Given the description of an element on the screen output the (x, y) to click on. 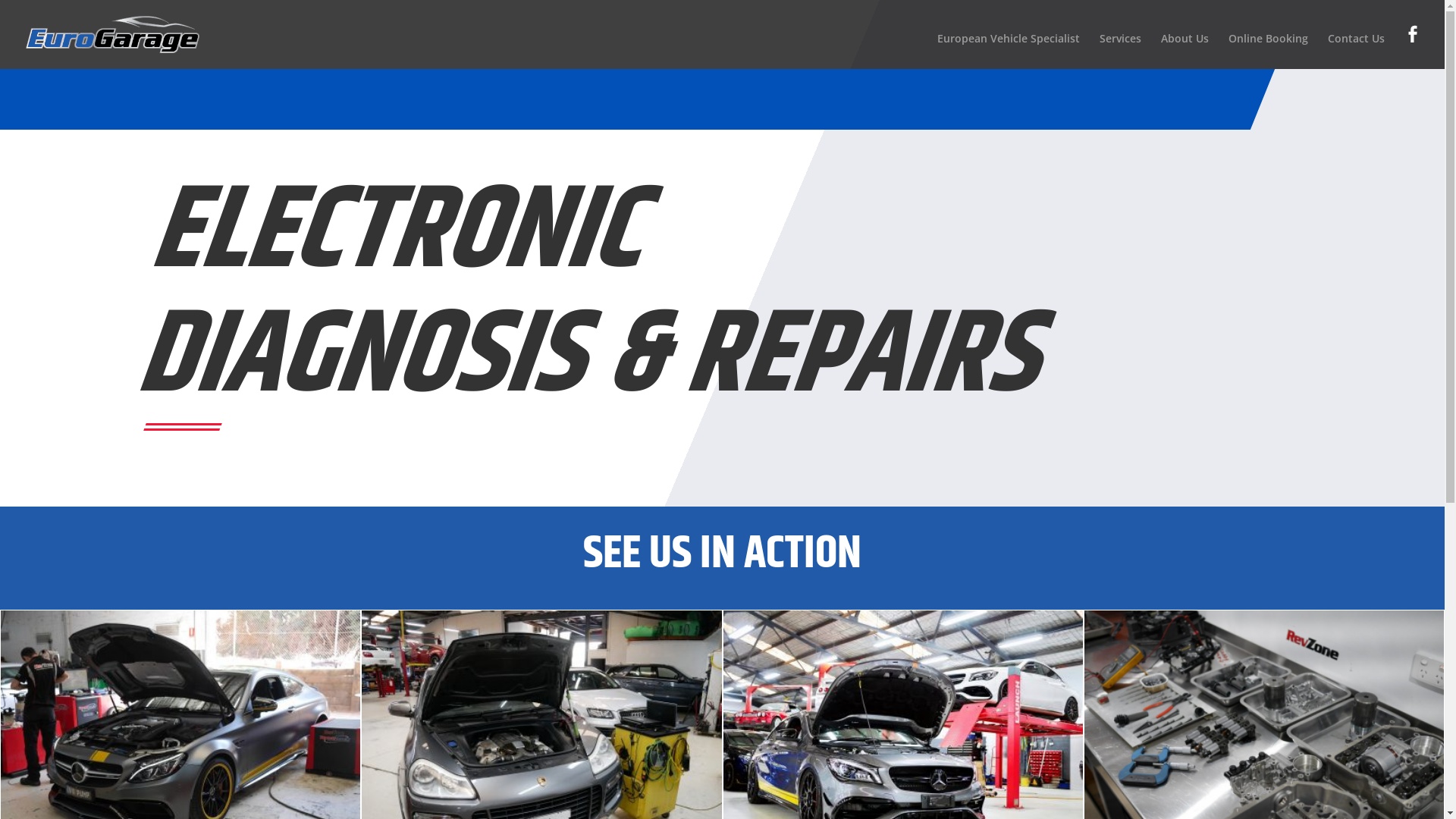
European Vehicle Specialist Element type: text (1008, 51)
About Us Element type: text (1184, 51)
Services Element type: text (1120, 51)
Online Booking Element type: text (1268, 51)
Contact Us Element type: text (1355, 51)
